Given the description of an element on the screen output the (x, y) to click on. 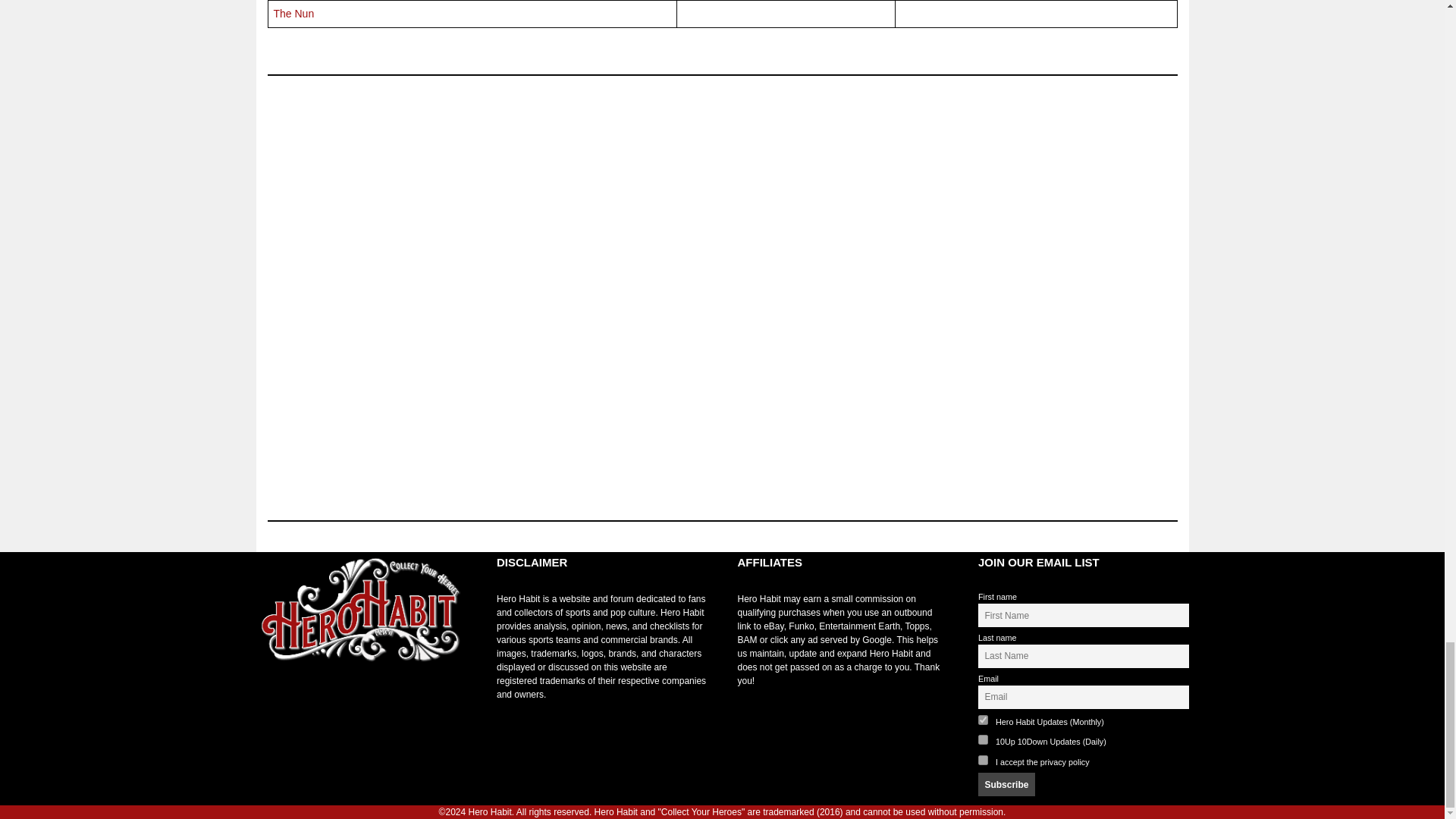
2 (983, 739)
on (983, 759)
1 (983, 719)
Subscribe (1006, 784)
